Given the description of an element on the screen output the (x, y) to click on. 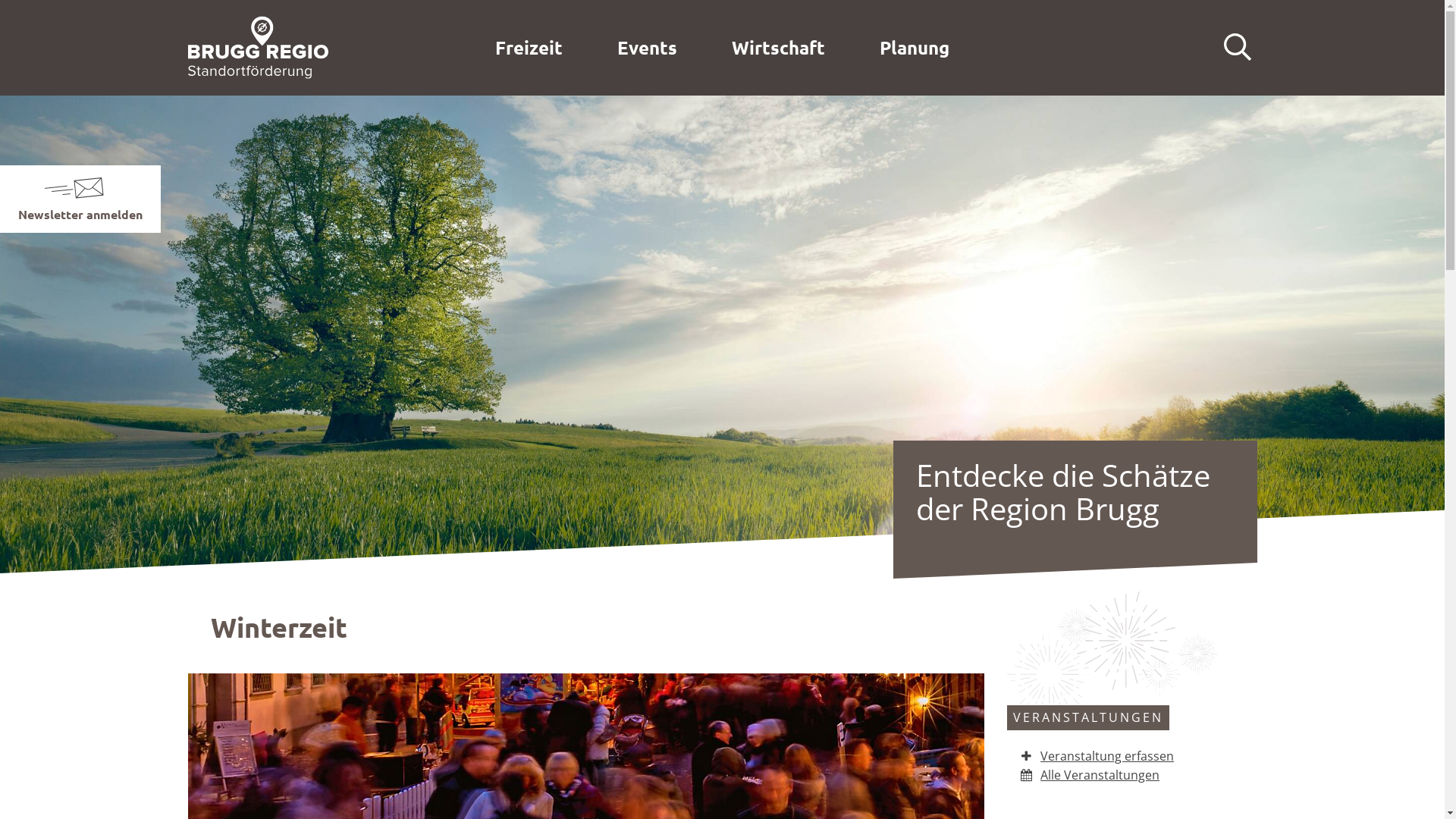
Newsletter anmelden Element type: text (80, 213)
Alle Veranstaltungen Element type: text (1089, 774)
Planung Element type: text (914, 47)
Suche Element type: text (1237, 47)
Events Element type: text (646, 47)
Wirtschaft Element type: text (778, 47)
Freizeit Element type: text (528, 47)
Veranstaltung erfassen Element type: text (1096, 755)
